Given the description of an element on the screen output the (x, y) to click on. 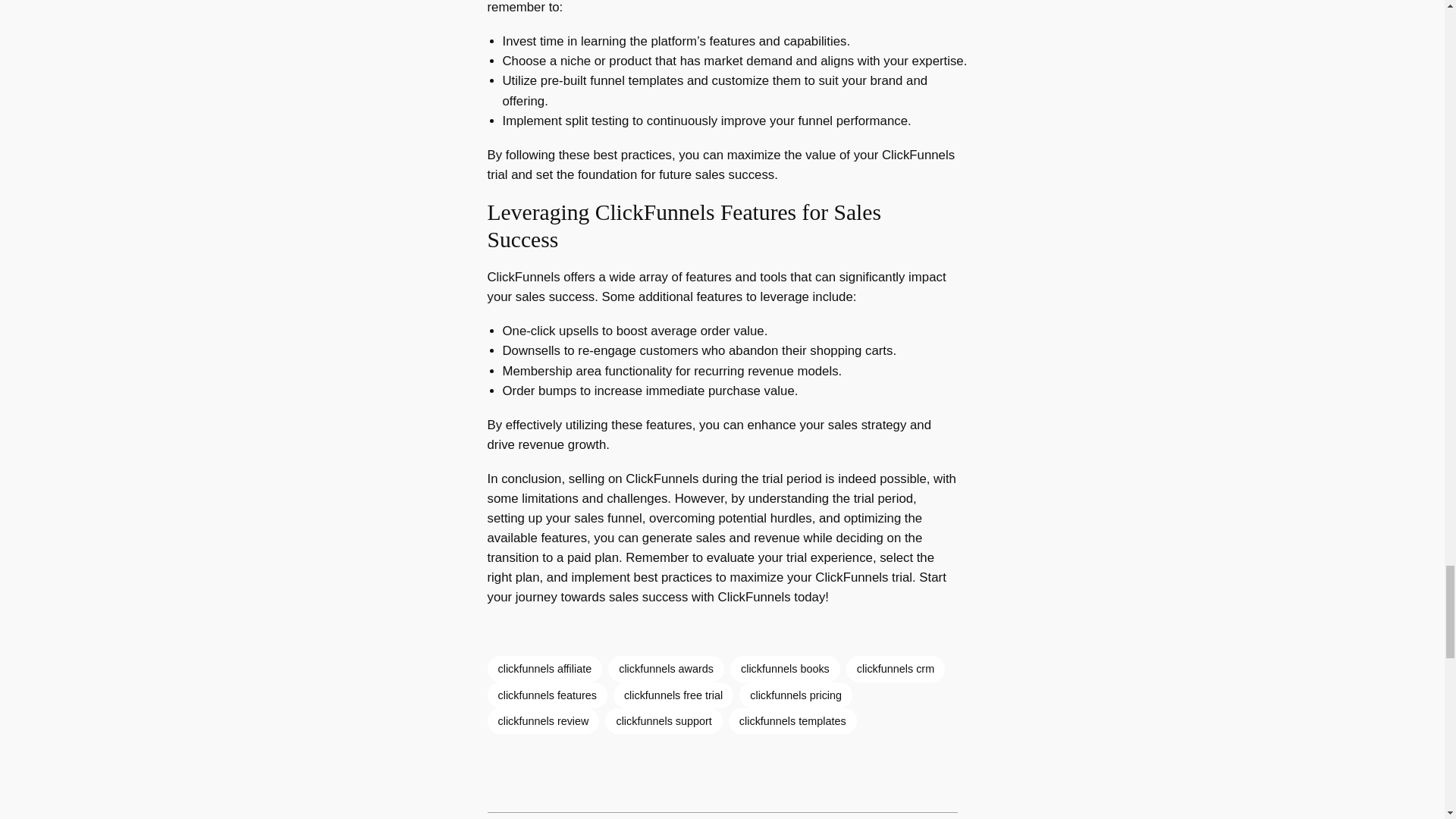
clickfunnels crm (894, 668)
clickfunnels books (785, 668)
clickfunnels templates (793, 720)
clickfunnels features (546, 695)
clickfunnels free trial (672, 695)
clickfunnels awards (665, 668)
clickfunnels review (542, 720)
clickfunnels pricing (795, 695)
clickfunnels support (663, 720)
clickfunnels affiliate (544, 668)
